Given the description of an element on the screen output the (x, y) to click on. 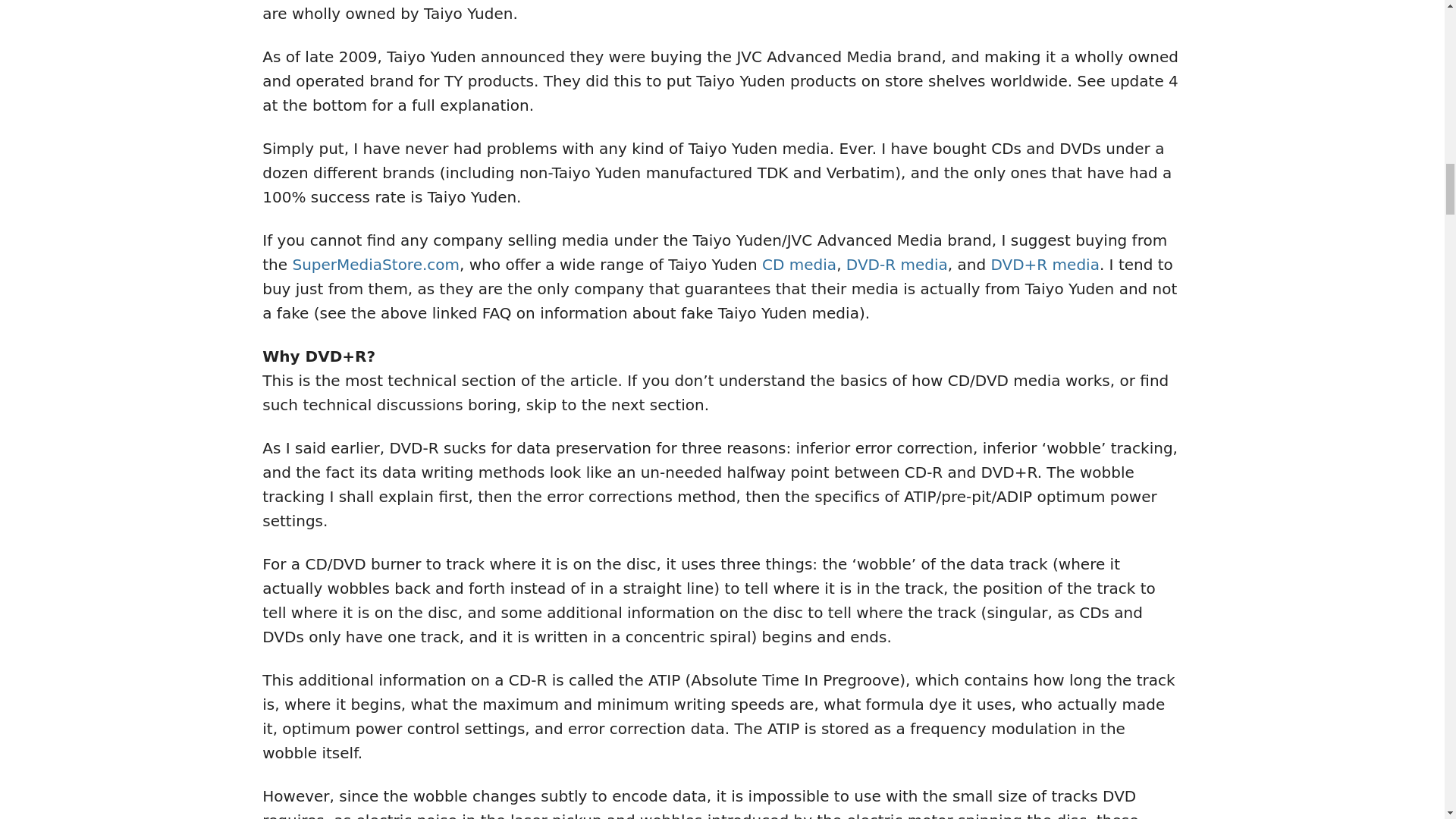
CD media (798, 264)
SuperMediaStore.com (376, 264)
DVD-R media (896, 264)
